Given the description of an element on the screen output the (x, y) to click on. 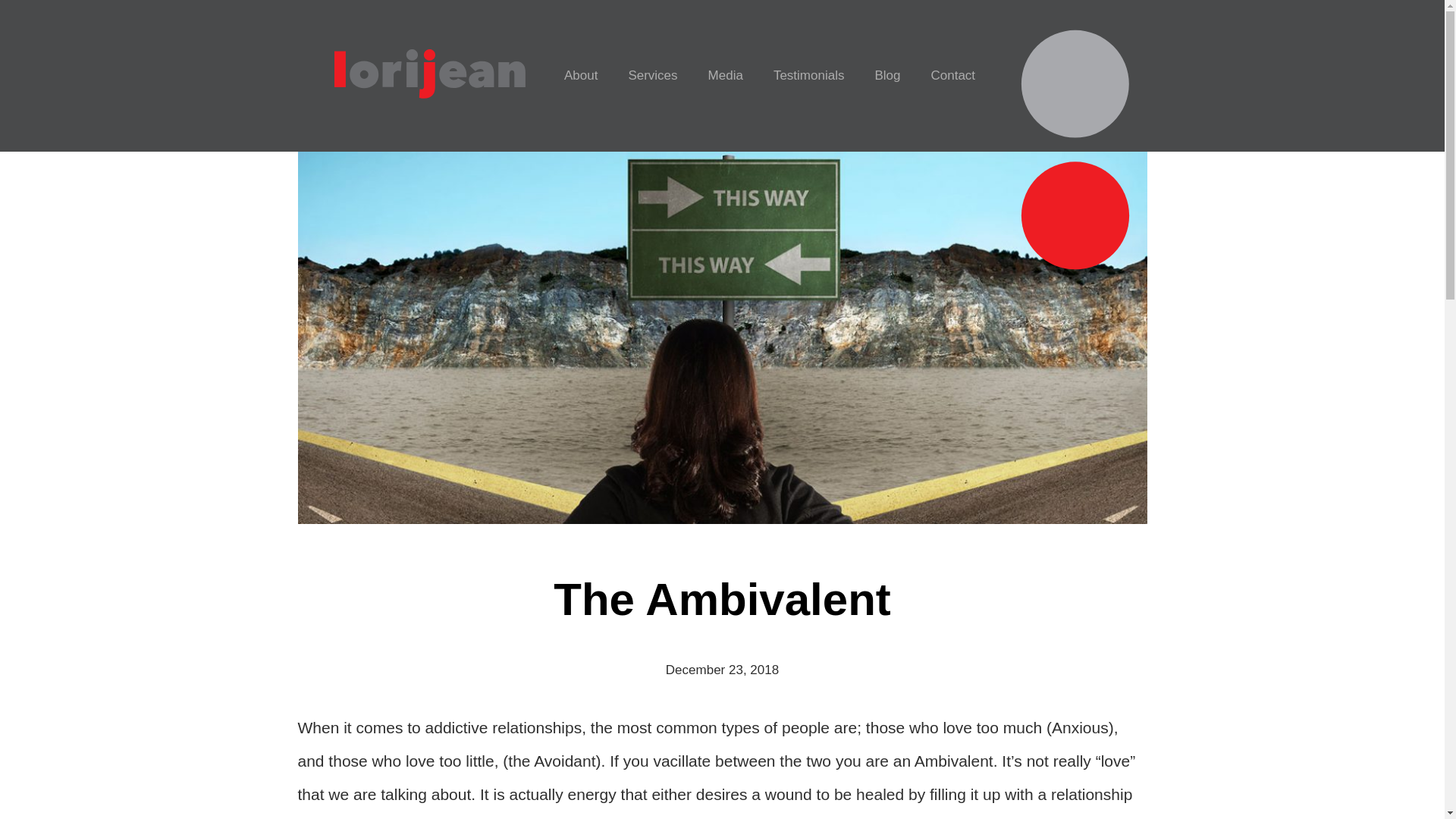
Services (652, 75)
About (580, 75)
Contact (952, 75)
Media (725, 75)
Blog (887, 75)
December 23, 2018 (721, 670)
Testimonials (809, 75)
